Given the description of an element on the screen output the (x, y) to click on. 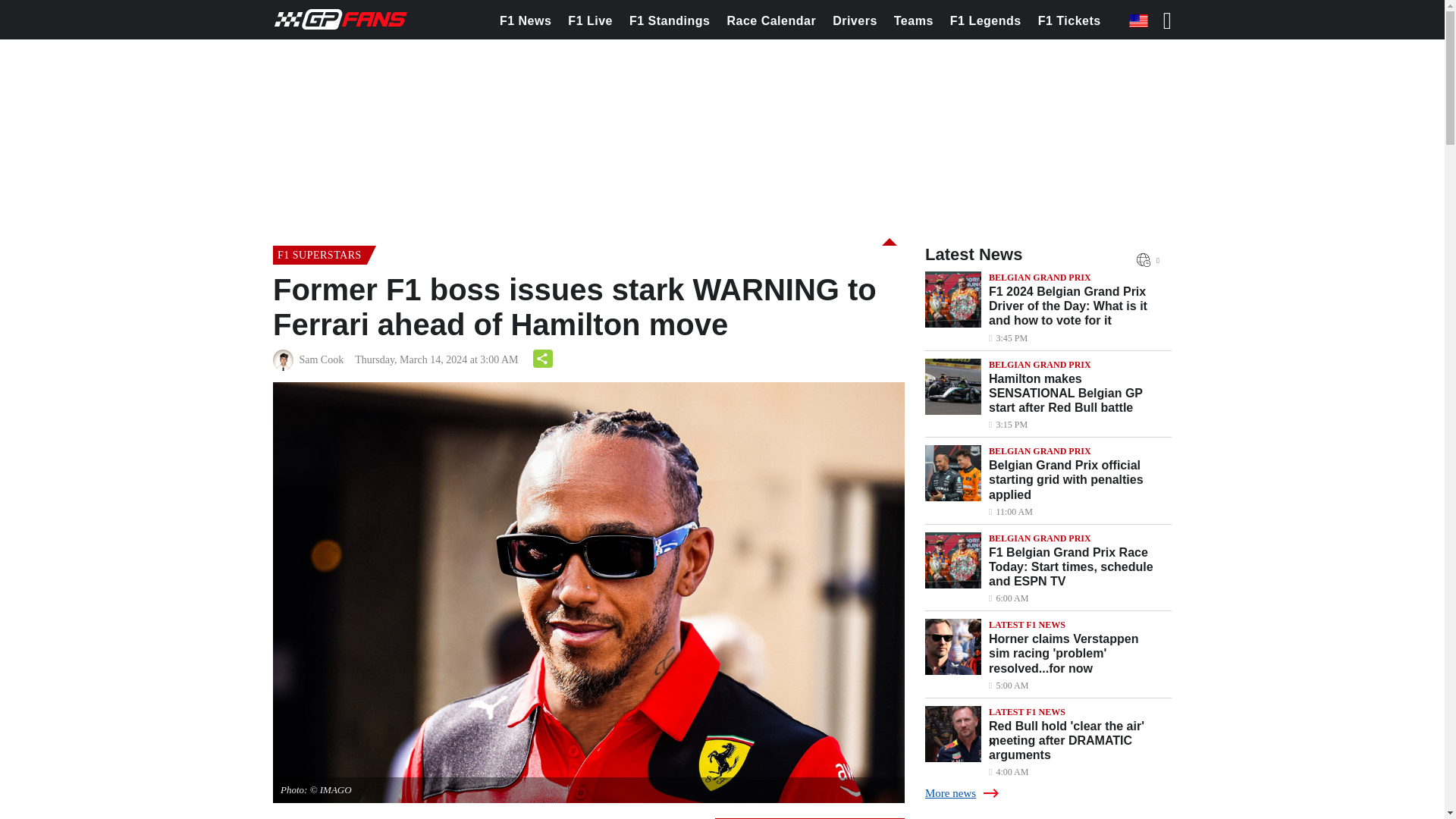
F1 Legends (985, 21)
Race Calendar (770, 21)
F1 News (525, 21)
F1 Tickets (1069, 21)
F1 Live (589, 21)
Timezone settings (1143, 259)
Teams (913, 21)
F1 Standings (669, 21)
Sam Cook (320, 360)
Drivers (854, 21)
